Given the description of an element on the screen output the (x, y) to click on. 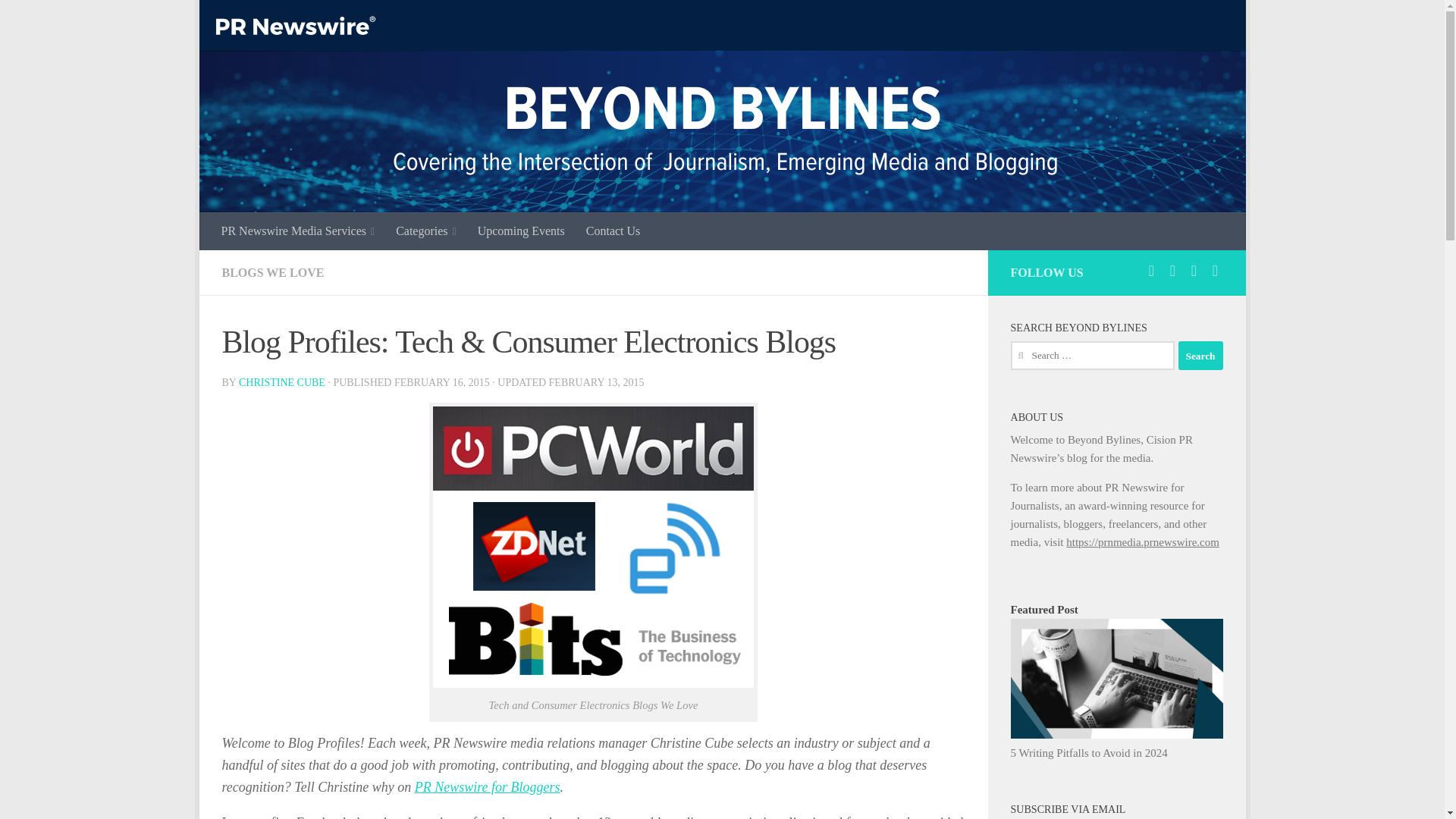
Search (1200, 355)
Follow us on Linkedin (1193, 270)
Follow us on Twitter (1150, 270)
Categories (426, 231)
CHRISTINE CUBE (281, 382)
Skip to content (258, 20)
Search (1200, 355)
Follow us on Rss (1215, 270)
Follow us on Facebook (1171, 270)
Contact Us (612, 231)
